Given the description of an element on the screen output the (x, y) to click on. 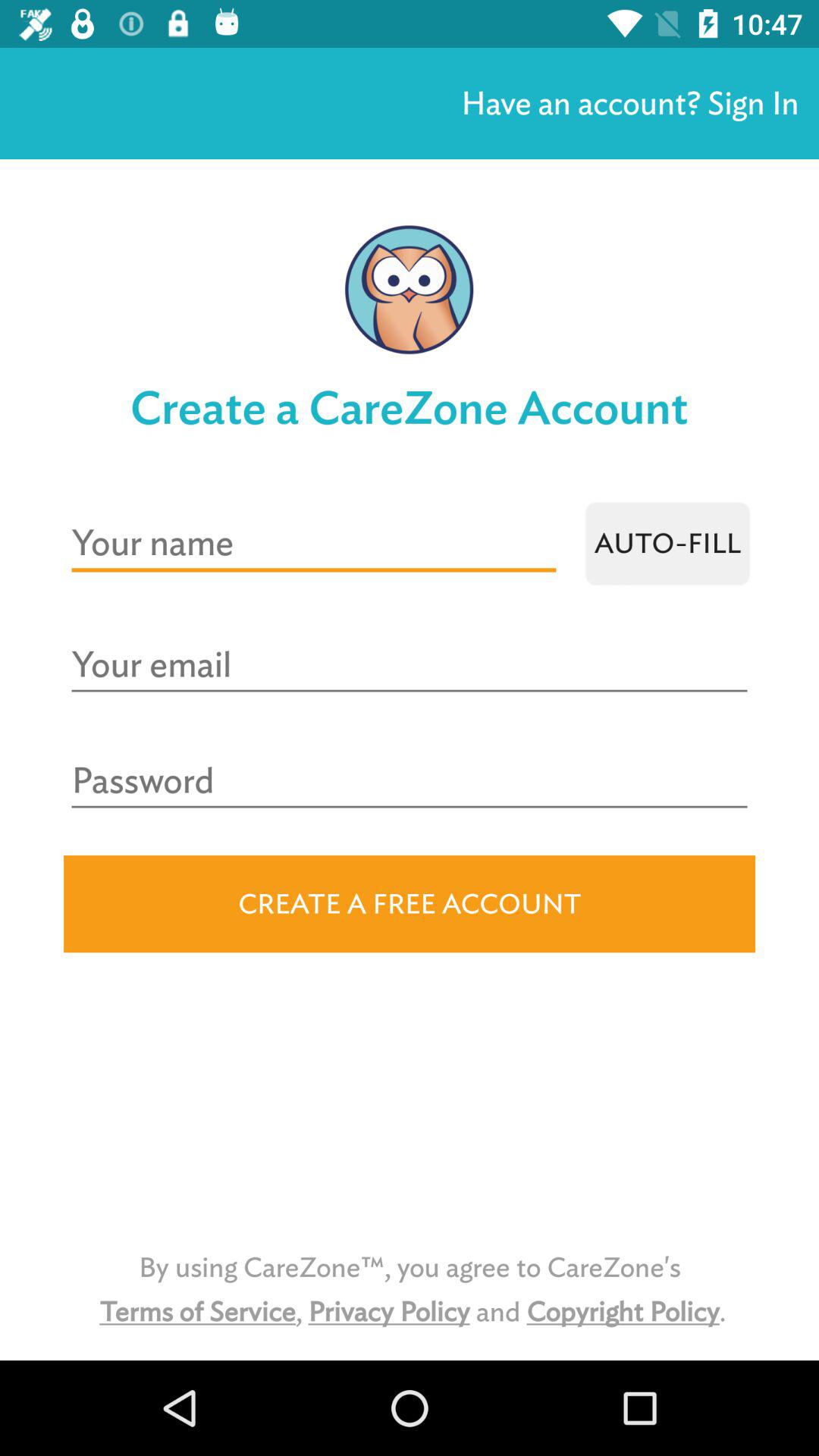
enter email (409, 665)
